Given the description of an element on the screen output the (x, y) to click on. 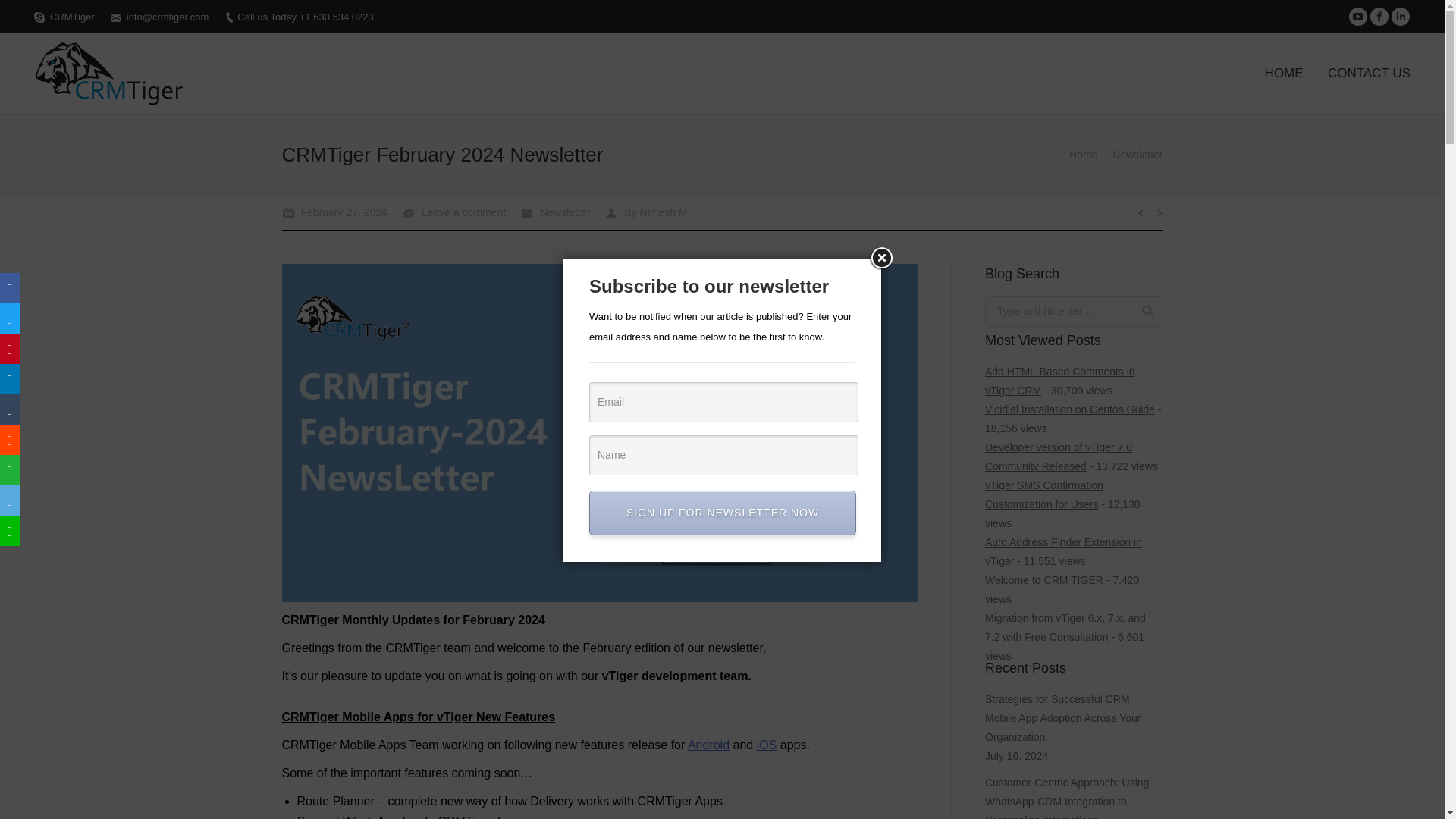
6:14 am (334, 212)
By Nimesh M. (647, 212)
Name (724, 454)
View all posts by Nimesh M. (647, 212)
Email (724, 402)
Android (708, 744)
Leave a comment (454, 212)
iOS (767, 744)
YouTube (1358, 16)
Newsletter (564, 212)
Facebook (1379, 16)
HOME (1283, 73)
Linkedin (1400, 16)
Go! (1142, 310)
